Given the description of an element on the screen output the (x, y) to click on. 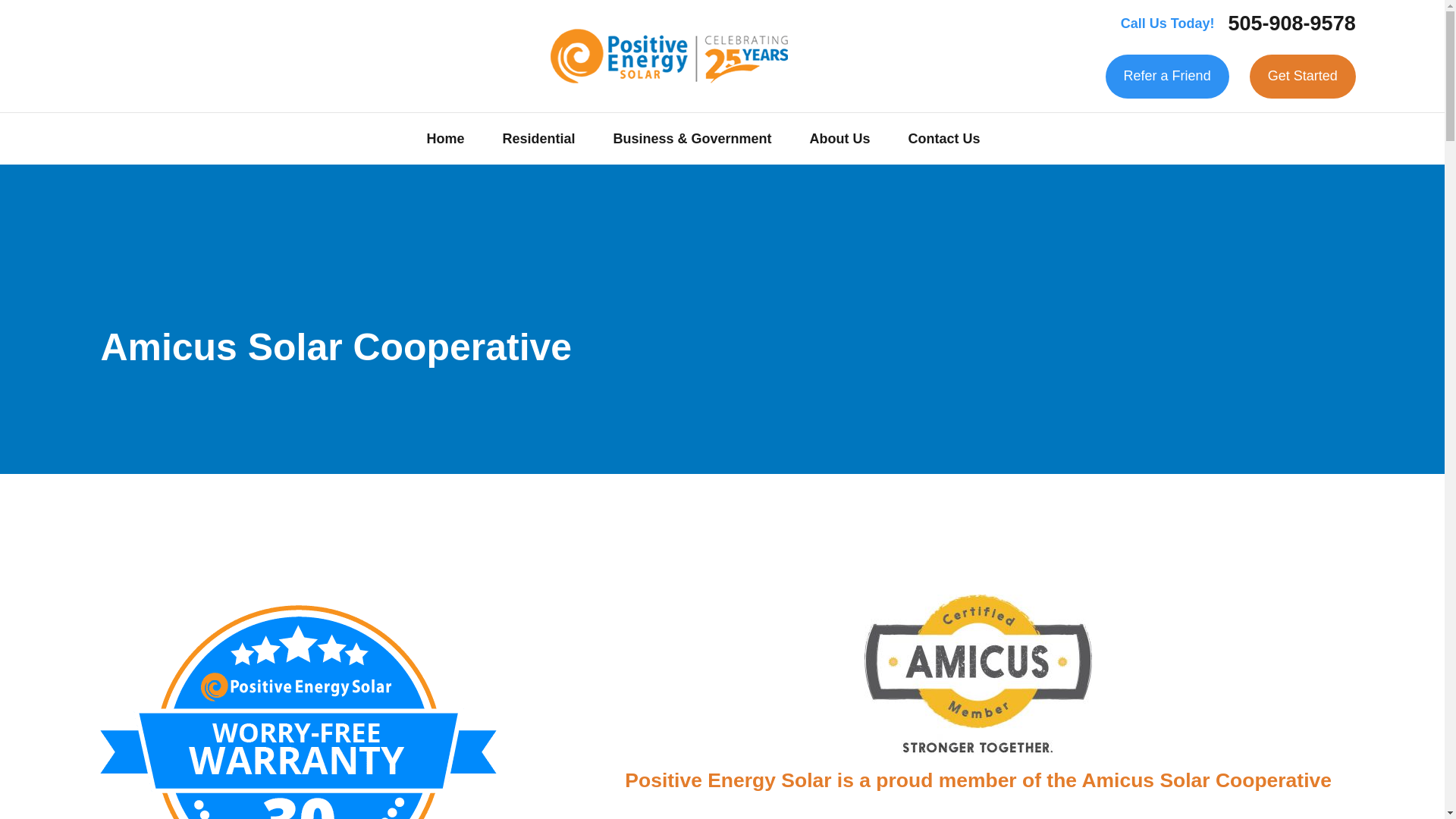
Yelp (177, 55)
Home (668, 55)
Get Started (1302, 76)
Google Business Profile (137, 55)
YouTube (217, 55)
505-908-9578 (1291, 23)
Residential (538, 138)
Facebook (97, 55)
Instagram (256, 55)
Refer a Friend (1166, 76)
